Given the description of an element on the screen output the (x, y) to click on. 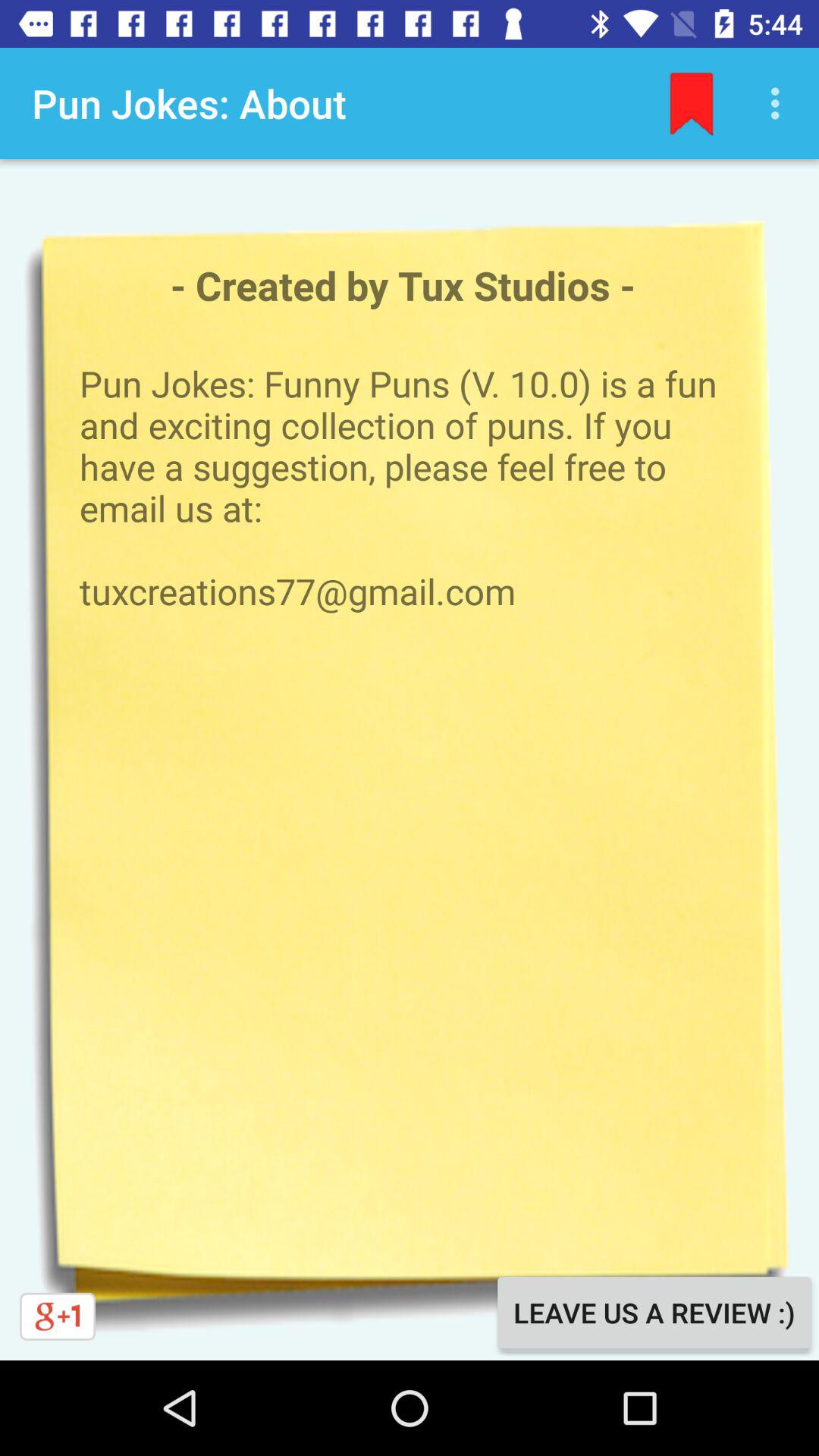
turn on the item above the created by tux (691, 103)
